Given the description of an element on the screen output the (x, y) to click on. 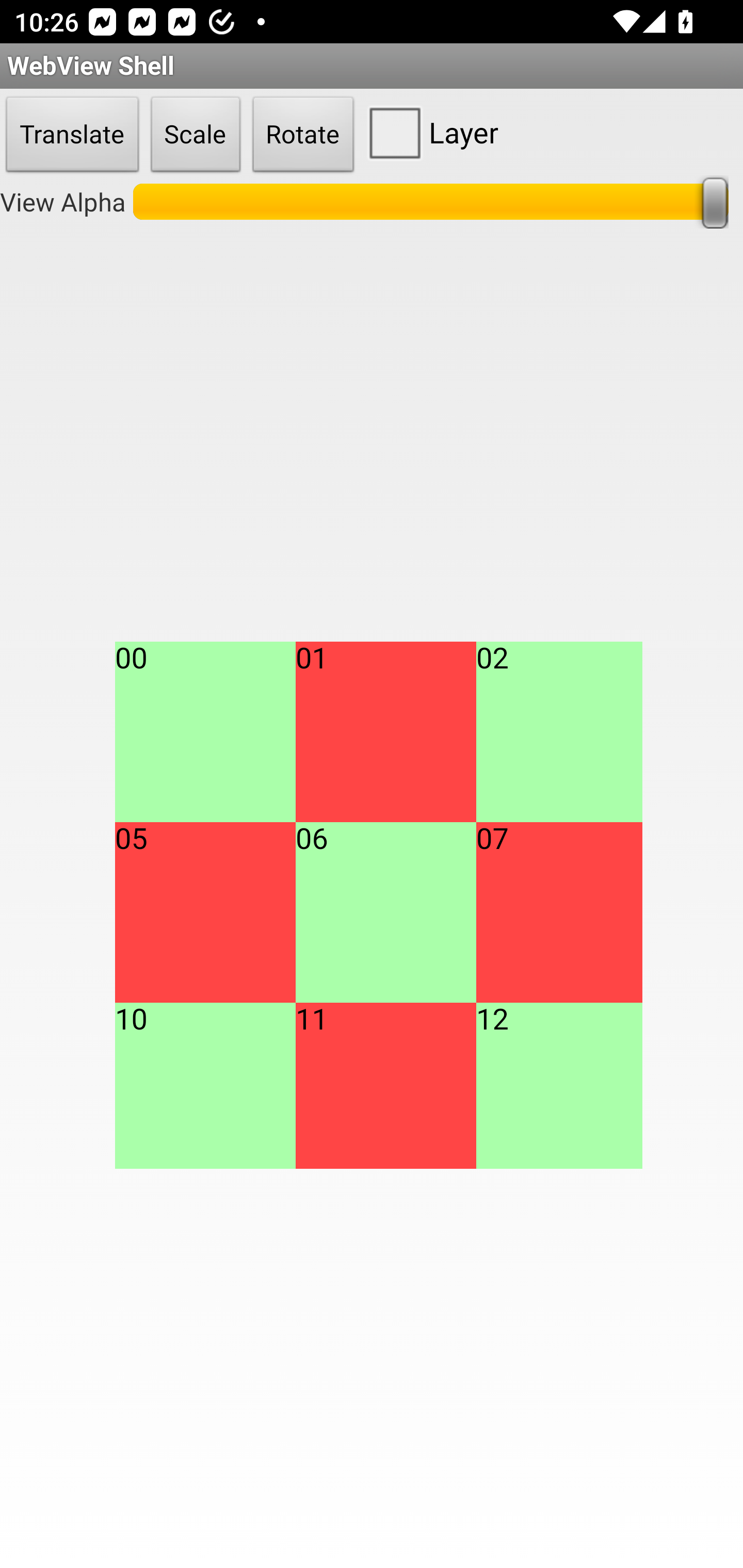
Layer (429, 132)
Translate (72, 135)
Scale (195, 135)
Rotate (303, 135)
